Given the description of an element on the screen output the (x, y) to click on. 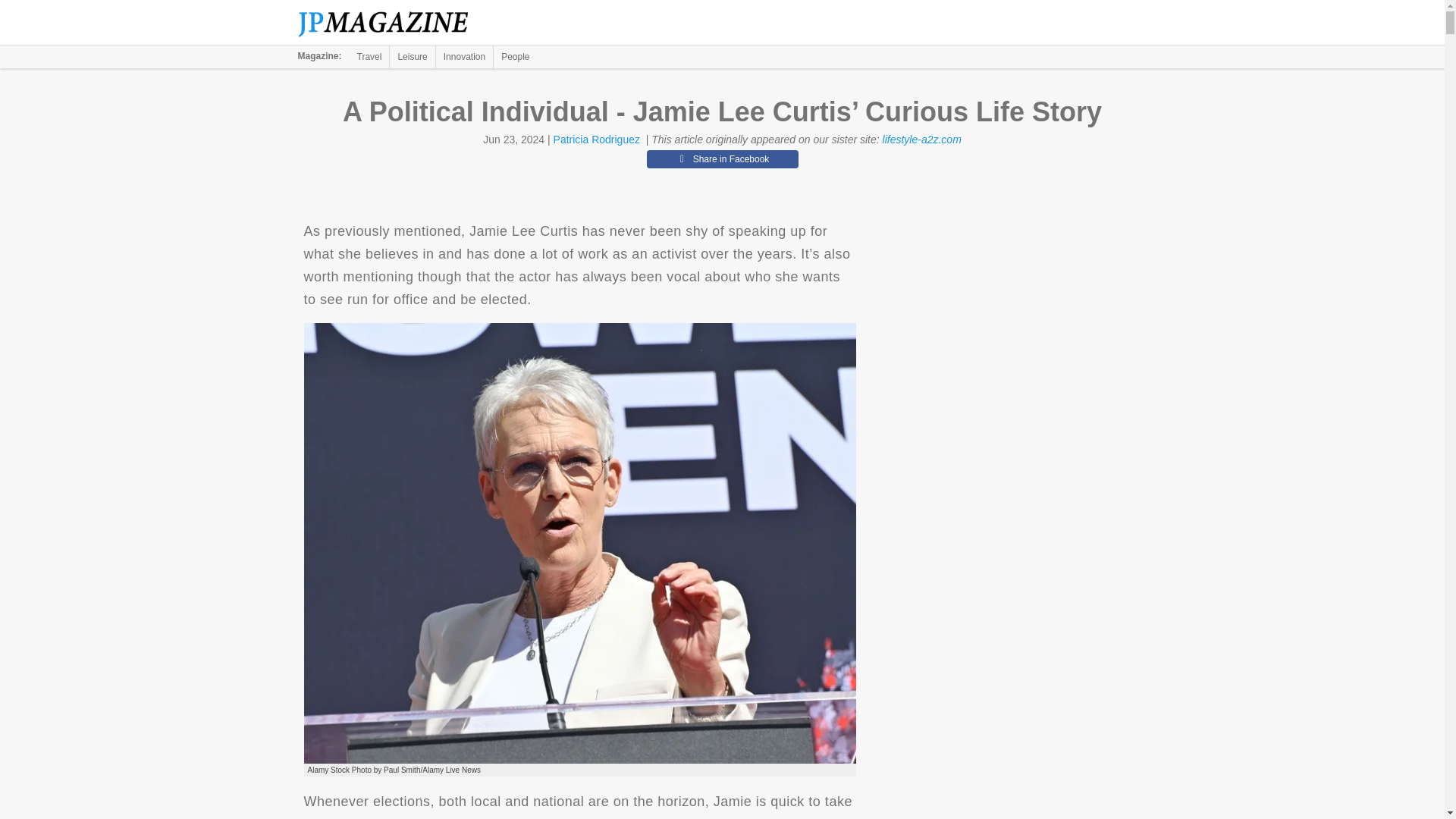
The Jerusalem Post Magazine (391, 22)
Leisure (411, 56)
Travel (369, 56)
Patricia Rodriguez (596, 139)
People (515, 56)
Innovation (464, 56)
Share in Facebook (721, 158)
lifestyle-a2z.com (921, 139)
